Given the description of an element on the screen output the (x, y) to click on. 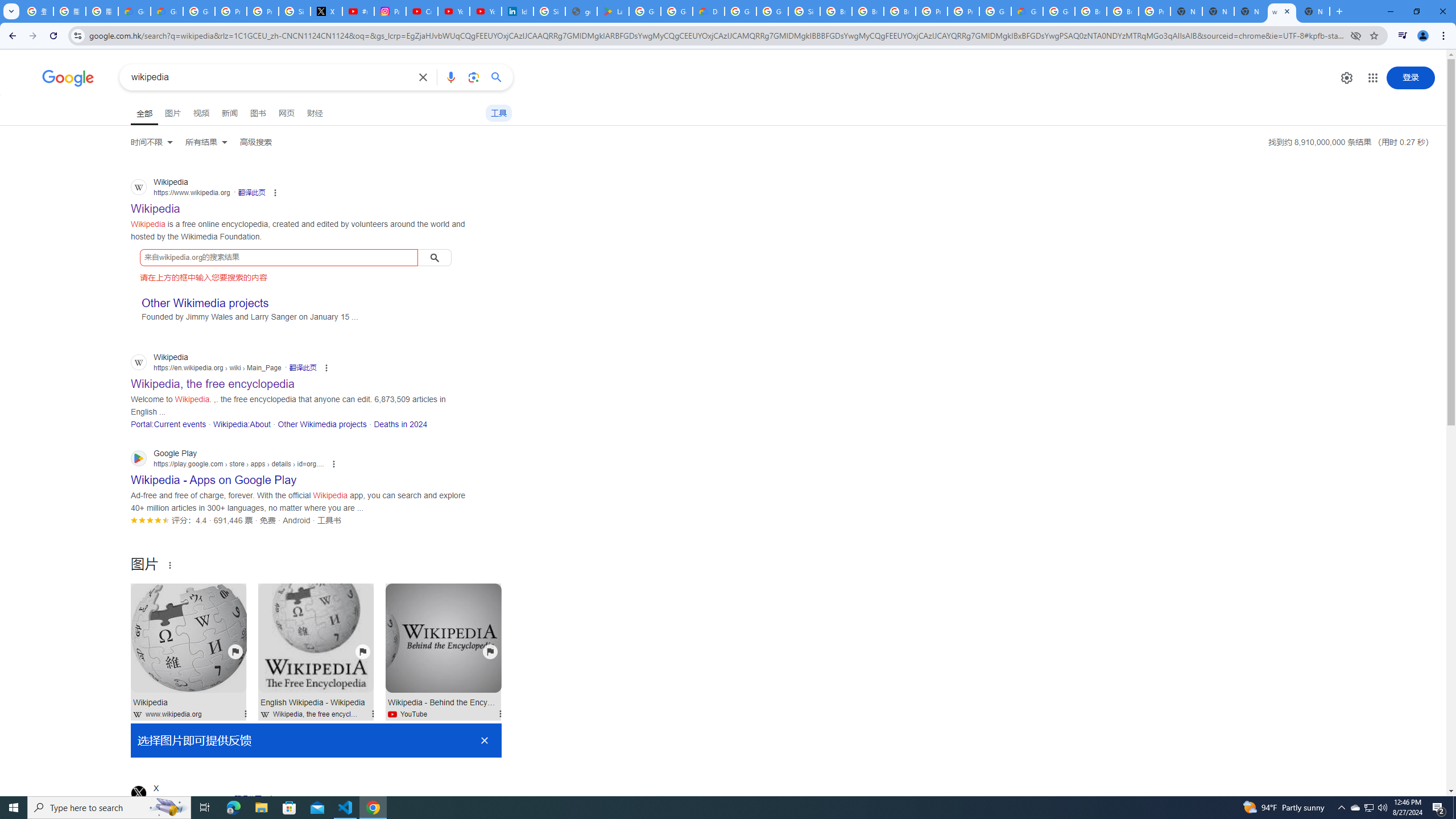
New Tab (1313, 11)
Browse Chrome as a guest - Computer - Google Chrome Help (868, 11)
Google Cloud Privacy Notice (134, 11)
Browse Chrome as a guest - Computer - Google Chrome Help (836, 11)
